Given the description of an element on the screen output the (x, y) to click on. 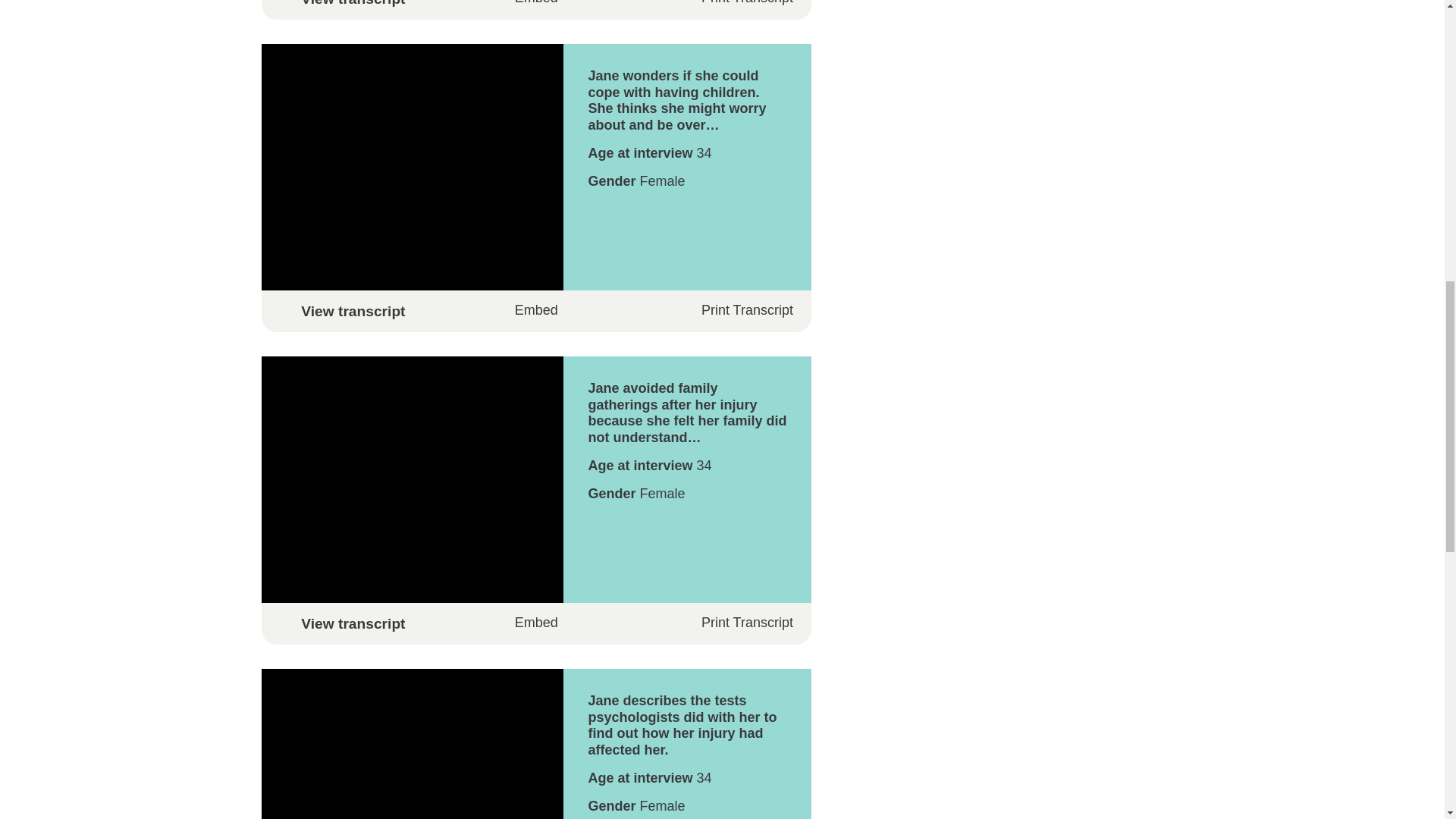
Print Transcript (736, 622)
Print Transcript (736, 310)
View transcript (535, 311)
Print Transcript (736, 2)
Embed (536, 6)
Embed (536, 310)
View transcript (535, 3)
Embed (536, 623)
View transcript (535, 623)
